Given the description of an element on the screen output the (x, y) to click on. 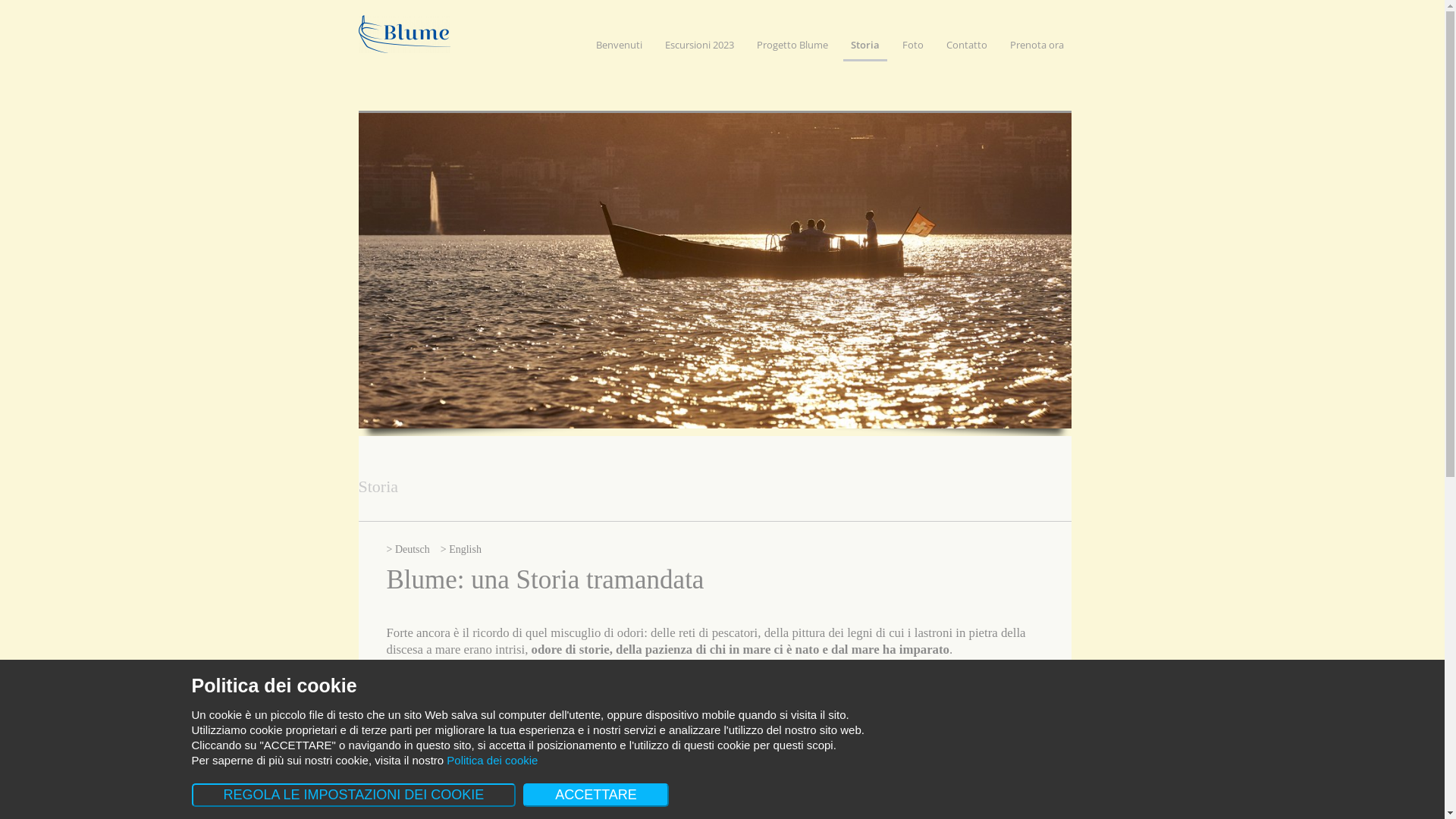
> English Element type: text (460, 549)
Politica dei cookie Element type: text (491, 759)
Prenota ora Element type: text (1036, 48)
REGOLA LE IMPOSTAZIONI DEI COOKIE Element type: text (353, 794)
Benvenuti Element type: text (618, 48)
> Deutsch Element type: text (407, 549)
Progetto Blume Element type: text (792, 48)
Storia Element type: text (865, 49)
Foto Element type: text (912, 48)
ACCETTARE Element type: text (595, 794)
Contatto Element type: text (966, 48)
Escursioni 2023 Element type: text (698, 48)
